Given the description of an element on the screen output the (x, y) to click on. 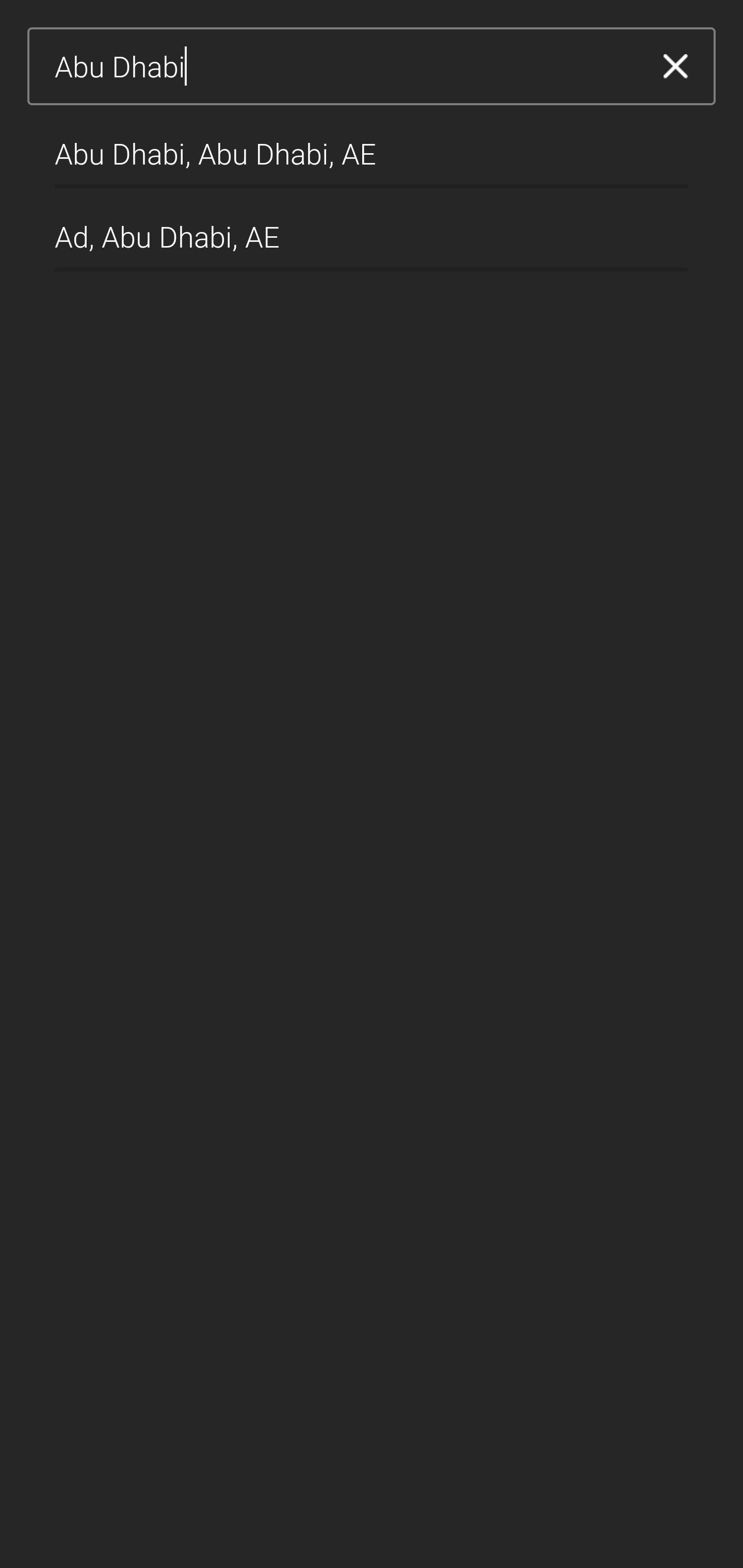
Abu Dhabi (345, 66)
Abu Dhabi, Abu Dhabi, AE (371, 146)
Ad, Abu Dhabi, AE (371, 229)
